Given the description of an element on the screen output the (x, y) to click on. 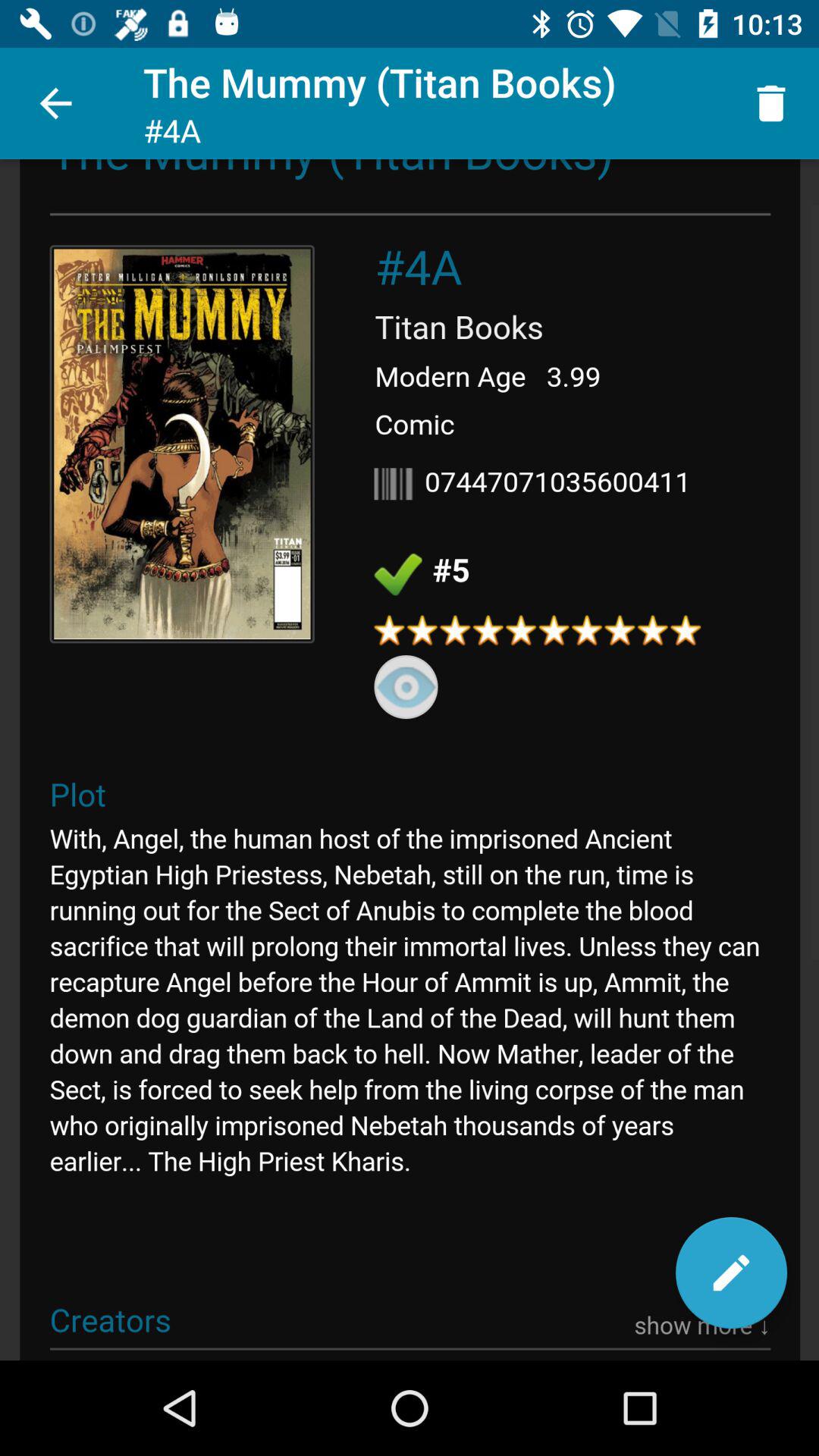
edit entry (731, 1272)
